Given the description of an element on the screen output the (x, y) to click on. 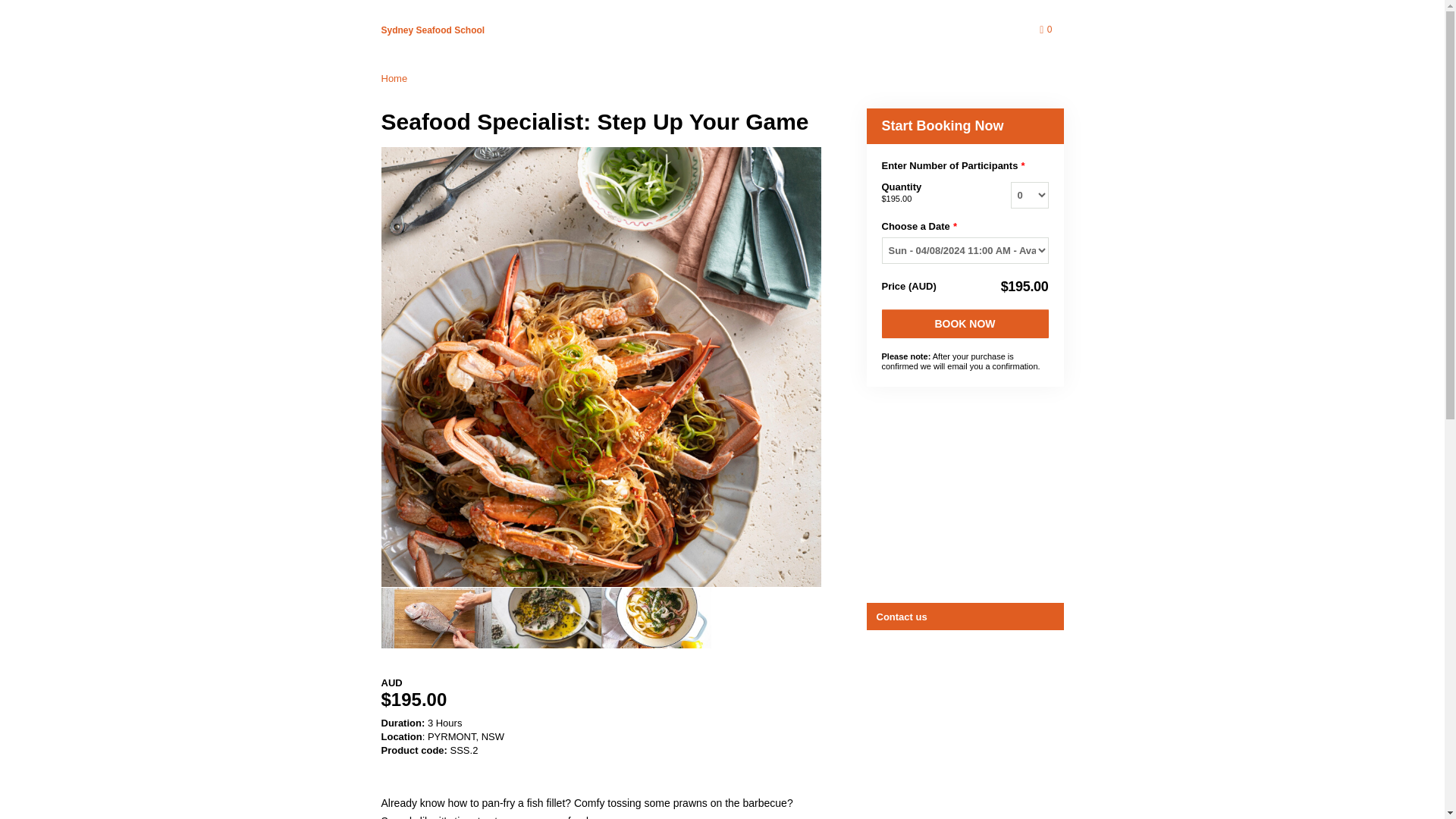
BOOK NOW (964, 323)
Sydney Seafood School (432, 30)
Contact us (965, 615)
0 (1047, 30)
Home (393, 78)
